Given the description of an element on the screen output the (x, y) to click on. 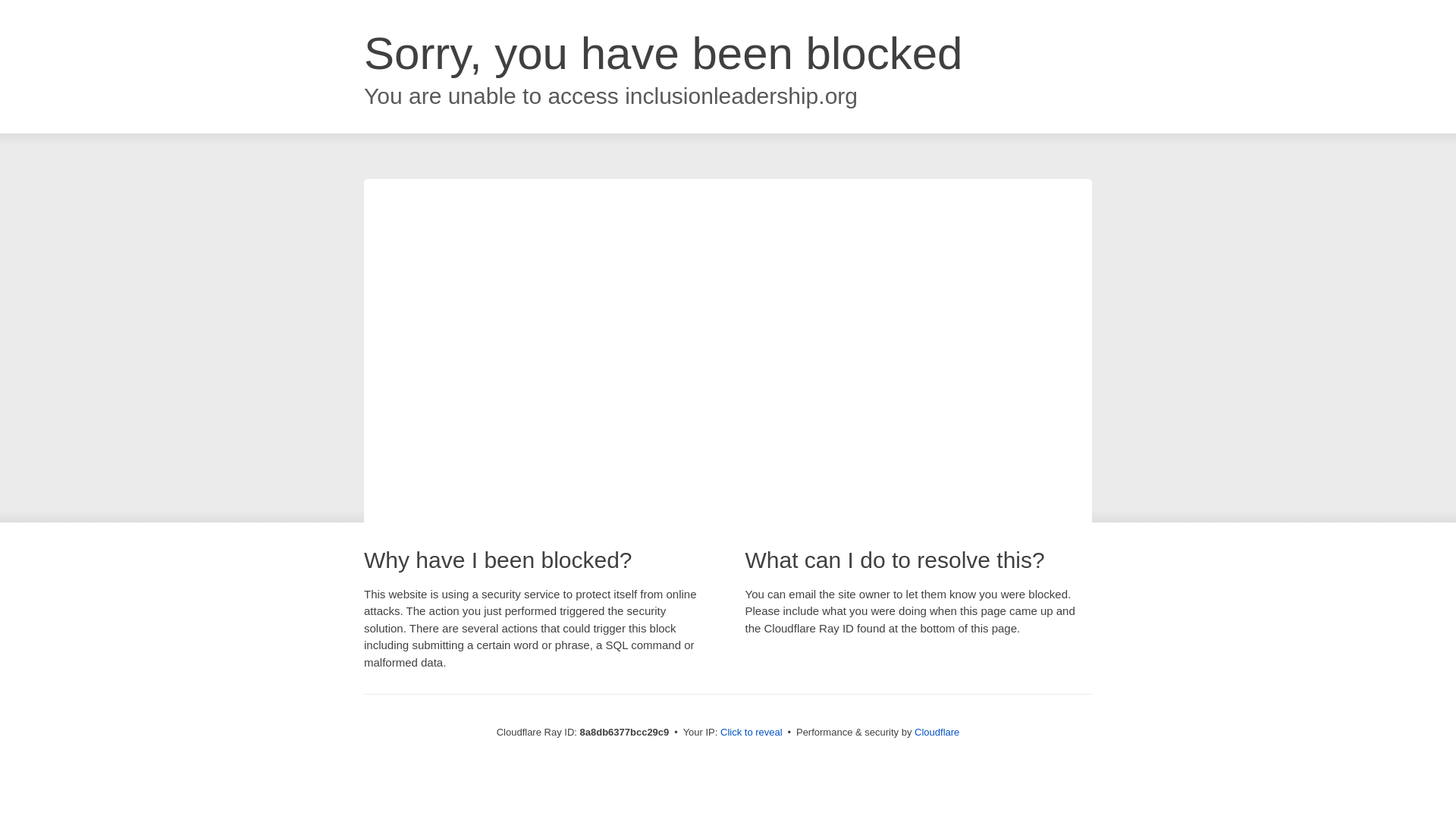
Cloudflare (936, 731)
Click to reveal (751, 732)
